Given the description of an element on the screen output the (x, y) to click on. 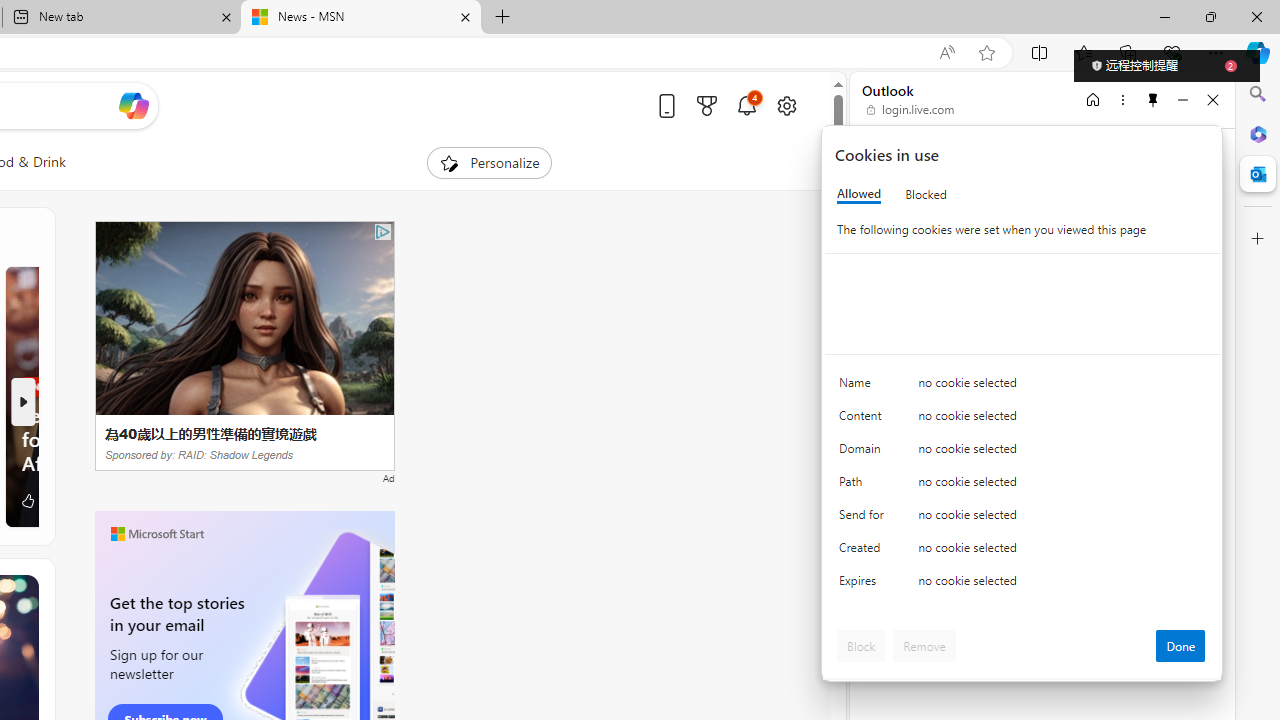
Send for (864, 518)
Unpin side pane (1153, 99)
171 Like (38, 500)
Open settings (786, 105)
Jennifer Lopez has filed for divorce from Ben Affleck (134, 438)
no cookie selected (1062, 585)
